Given the description of an element on the screen output the (x, y) to click on. 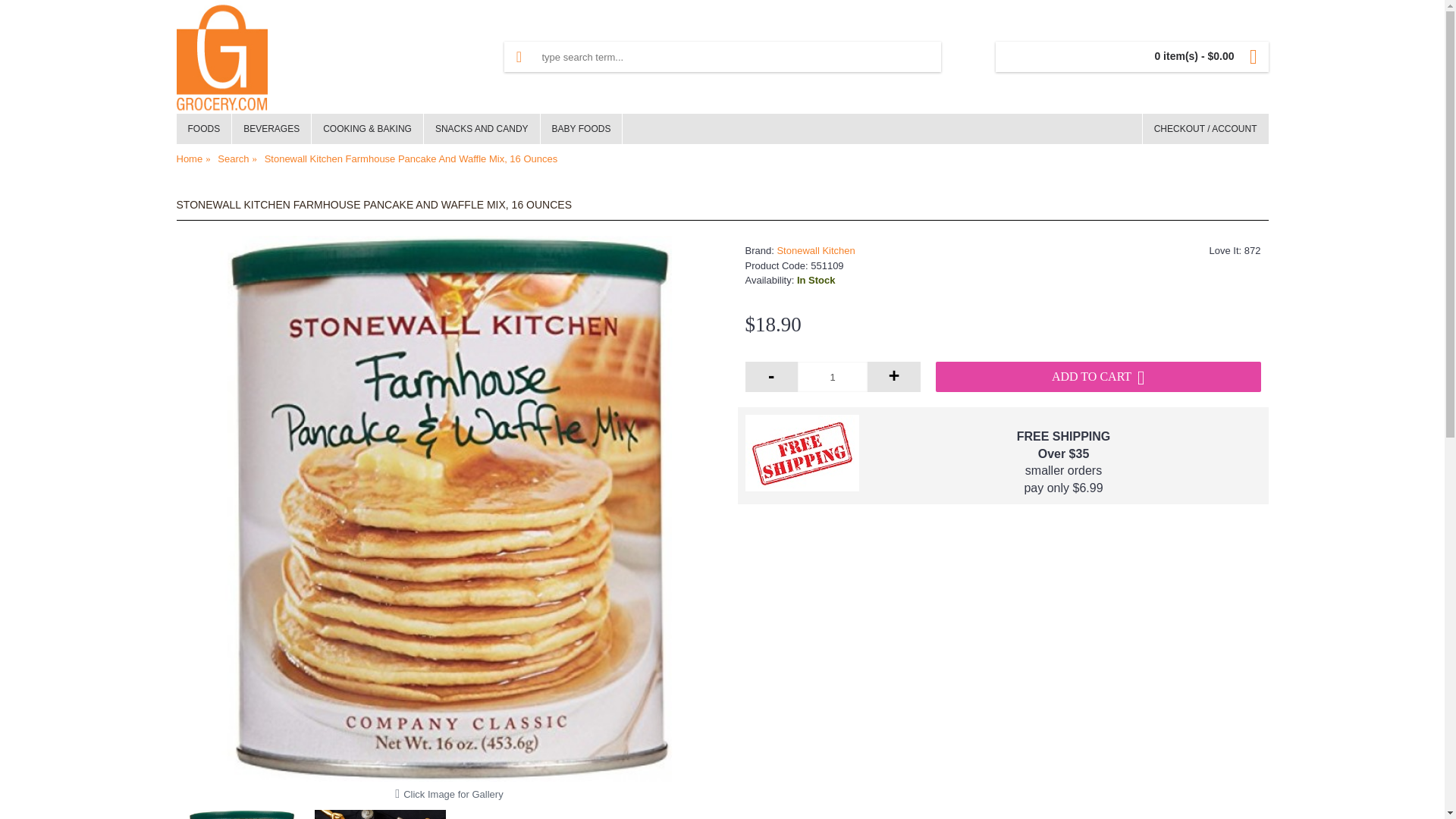
SNACKS AND CANDY (481, 128)
1 (832, 376)
FOODS (203, 128)
BEVERAGES (271, 128)
